Given the description of an element on the screen output the (x, y) to click on. 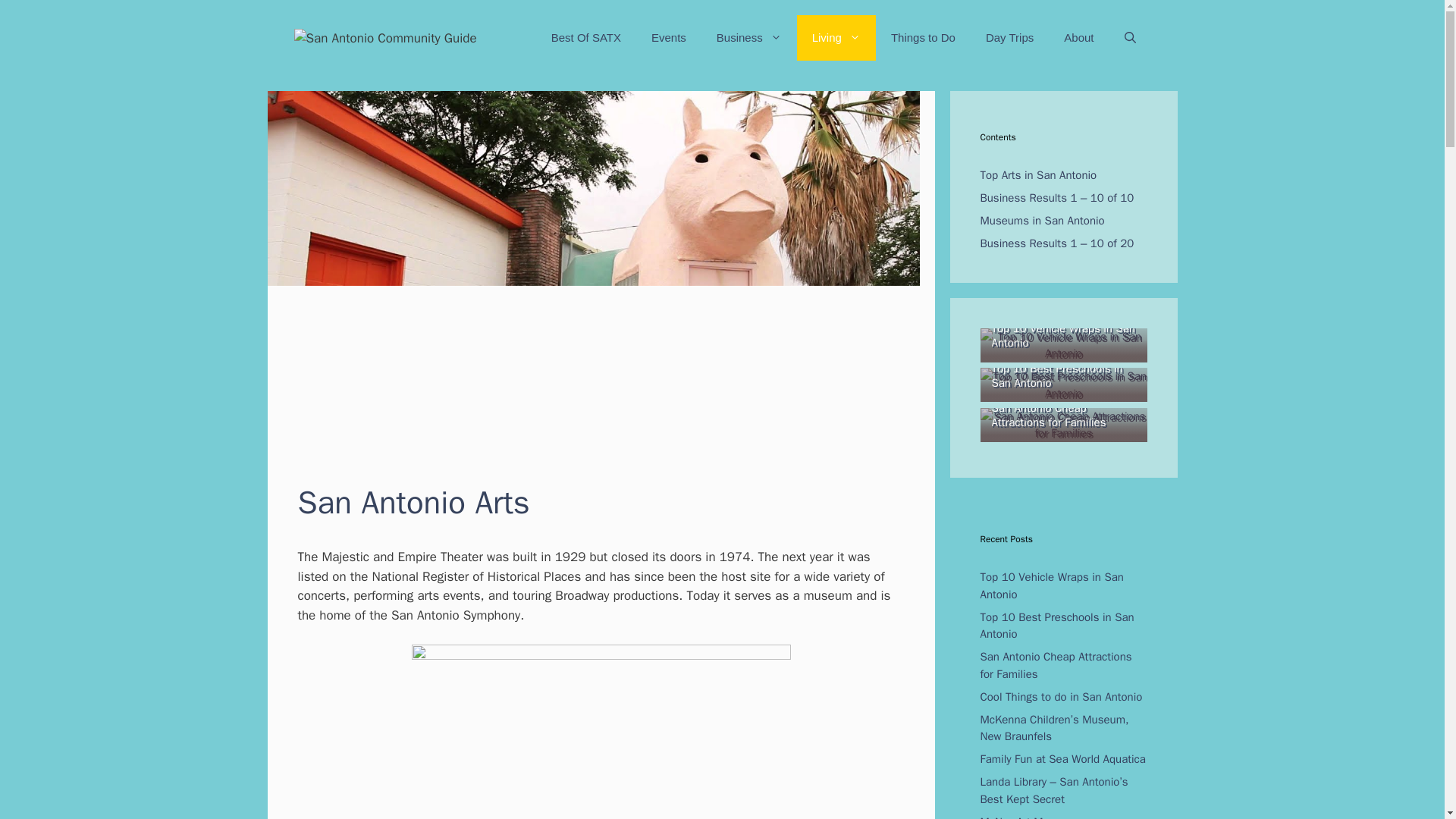
Top Arts in San Antonio (1037, 174)
Living (836, 37)
Things to Do (923, 37)
Top 10 Vehicle Wraps in San Antonio (1063, 353)
Top 10 Best Preschools in San Antonio (1063, 393)
About (1078, 37)
San Antonio Cheap Attractions for Families (1063, 432)
Day Trips (1009, 37)
Best Of SATX (585, 37)
Events (668, 37)
